Given the description of an element on the screen output the (x, y) to click on. 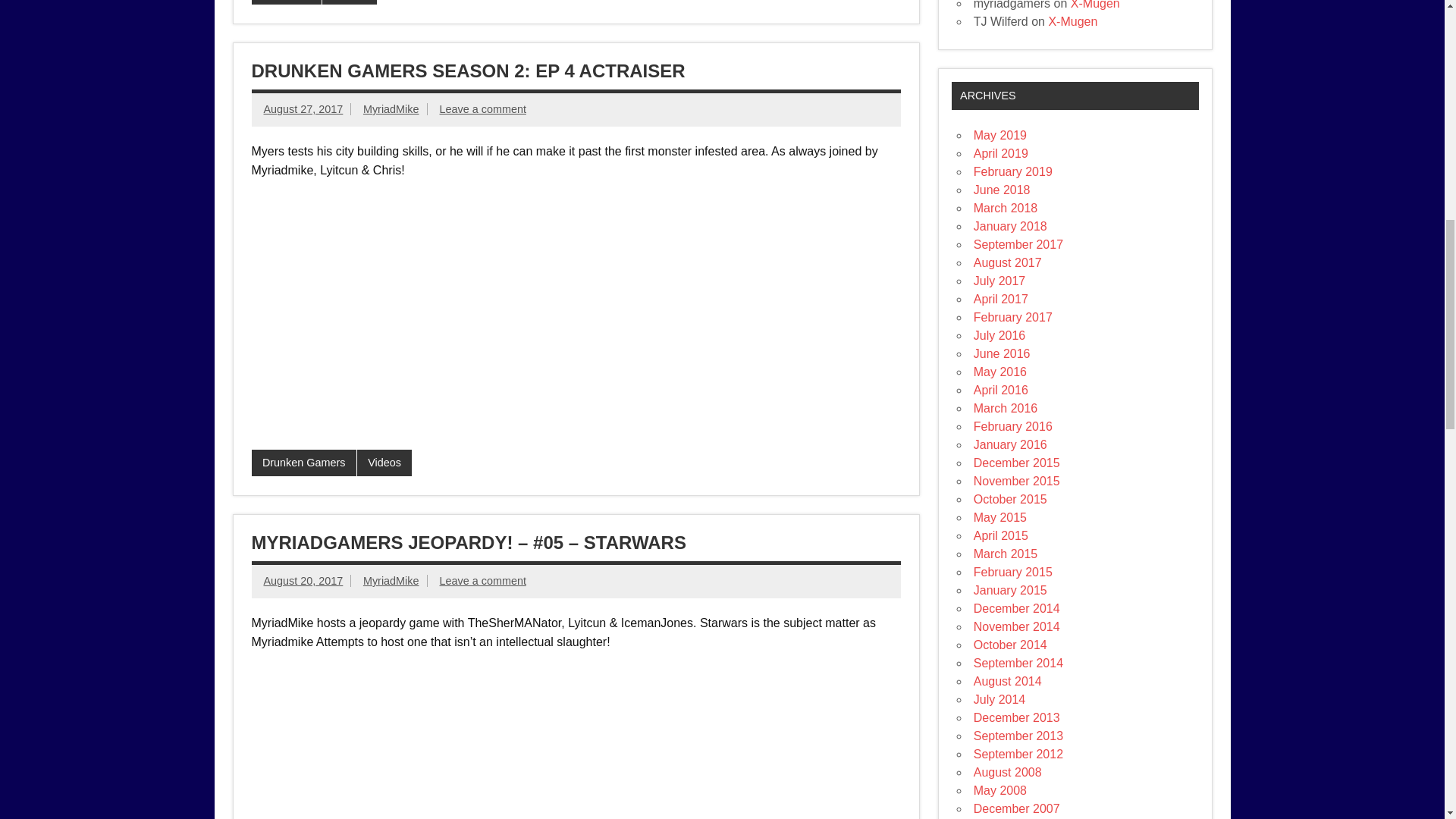
August 27, 2017 (303, 109)
Transistor (286, 2)
MyriadMike (390, 109)
Leave a comment (482, 109)
Videos (349, 2)
View all posts by MyriadMike (390, 109)
7:55 pm (303, 109)
View all posts by MyriadMike (390, 580)
1:42 pm (303, 580)
DRUNKEN GAMERS SEASON 2: EP 4 ACTRAISER (468, 70)
